Given the description of an element on the screen output the (x, y) to click on. 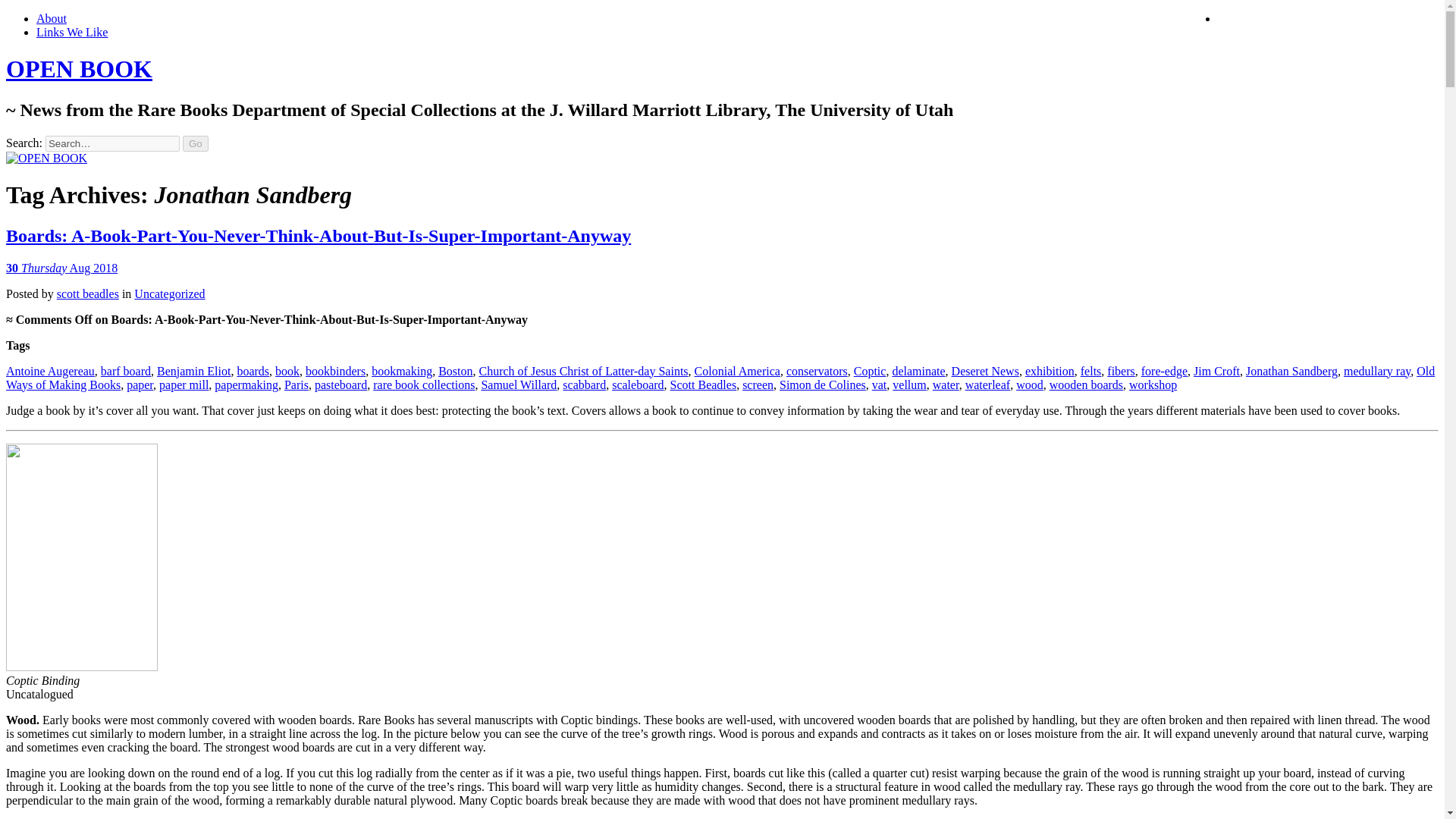
papermaking (246, 384)
barf board (125, 370)
pasteboard (340, 384)
Jonathan Sandberg (1292, 370)
delaminate (917, 370)
Colonial America (737, 370)
Deseret News (985, 370)
conservators (816, 370)
book (287, 370)
OPEN BOOK (78, 68)
Paris (295, 384)
Uncategorized (169, 293)
fibers (1120, 370)
fore-edge (1164, 370)
rare book collections (423, 384)
